Given the description of an element on the screen output the (x, y) to click on. 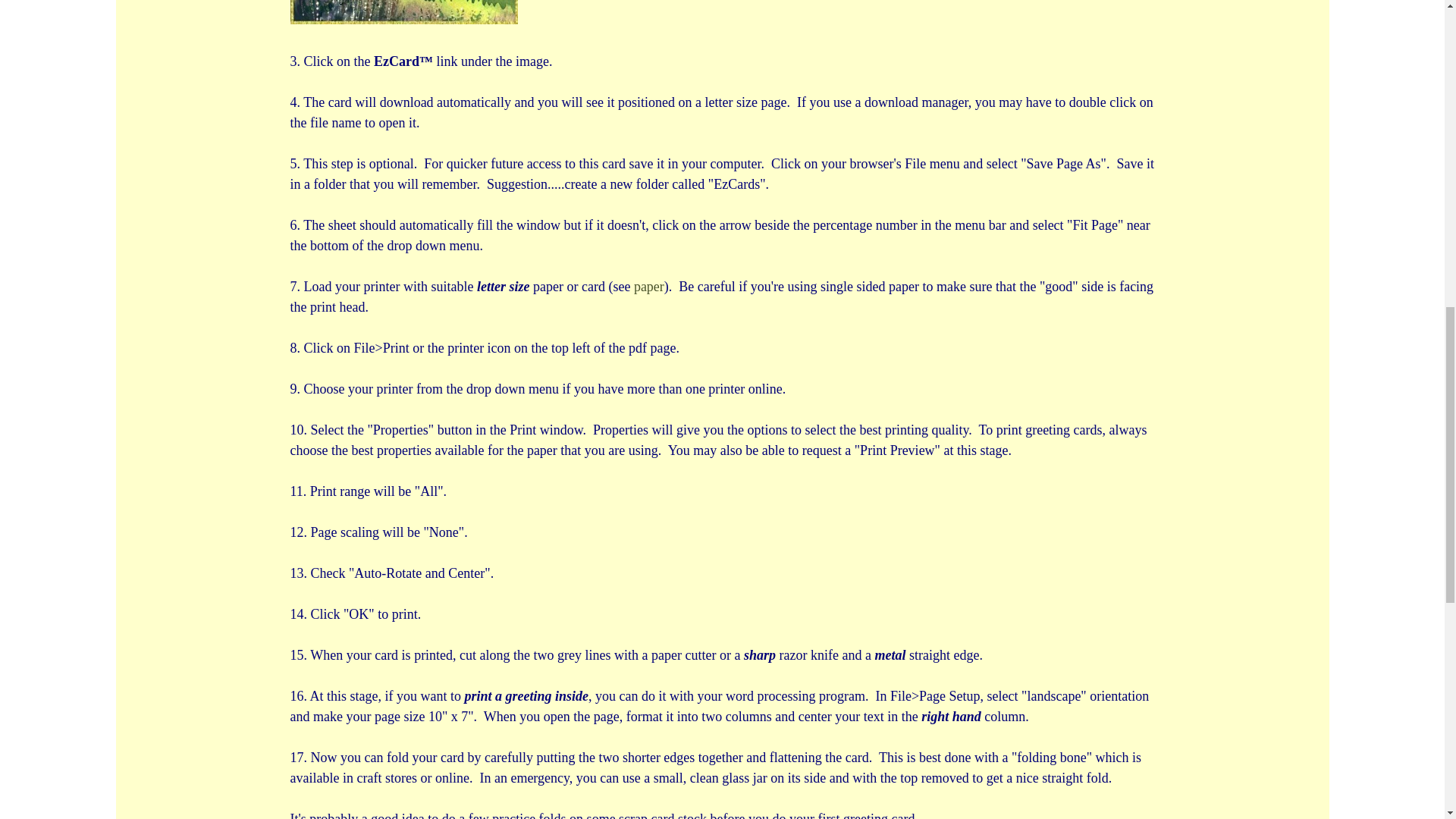
Yellow Mountain Flowers (414, 19)
mountains image (402, 12)
paper (648, 286)
